Given the description of an element on the screen output the (x, y) to click on. 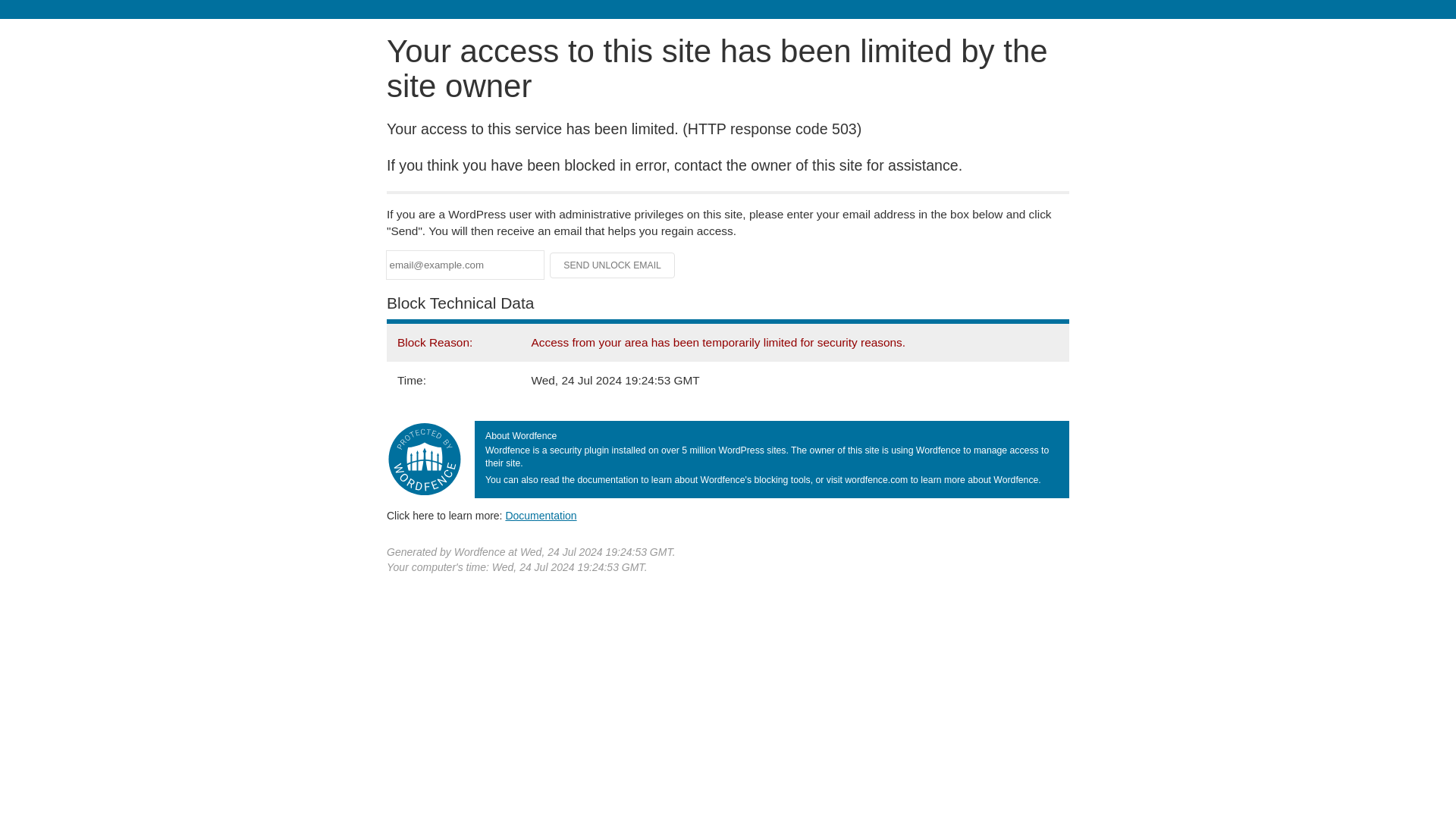
Documentation (540, 515)
Send Unlock Email (612, 265)
Send Unlock Email (612, 265)
